Given the description of an element on the screen output the (x, y) to click on. 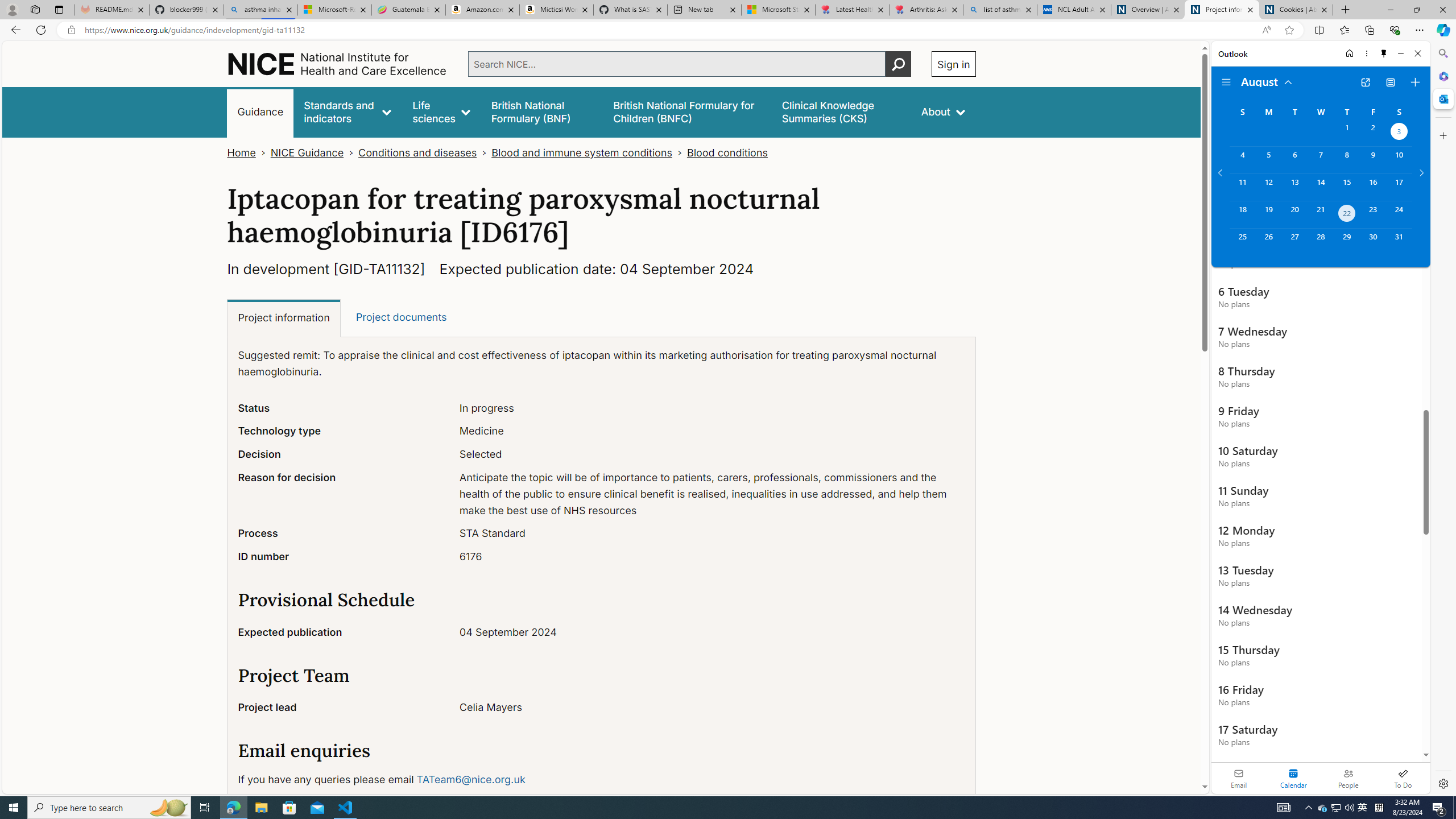
Folder navigation (1225, 82)
false (841, 111)
People (1347, 777)
Microsoft 365 (1442, 76)
asthma inhaler - Search (260, 9)
Blood conditions (726, 152)
NCL Adult Asthma Inhaler Choice Guideline (1073, 9)
Friday, August 9, 2024.  (1372, 159)
Saturday, August 31, 2024.  (1399, 241)
Collections (1369, 29)
Browser essentials (1394, 29)
